Given the description of an element on the screen output the (x, y) to click on. 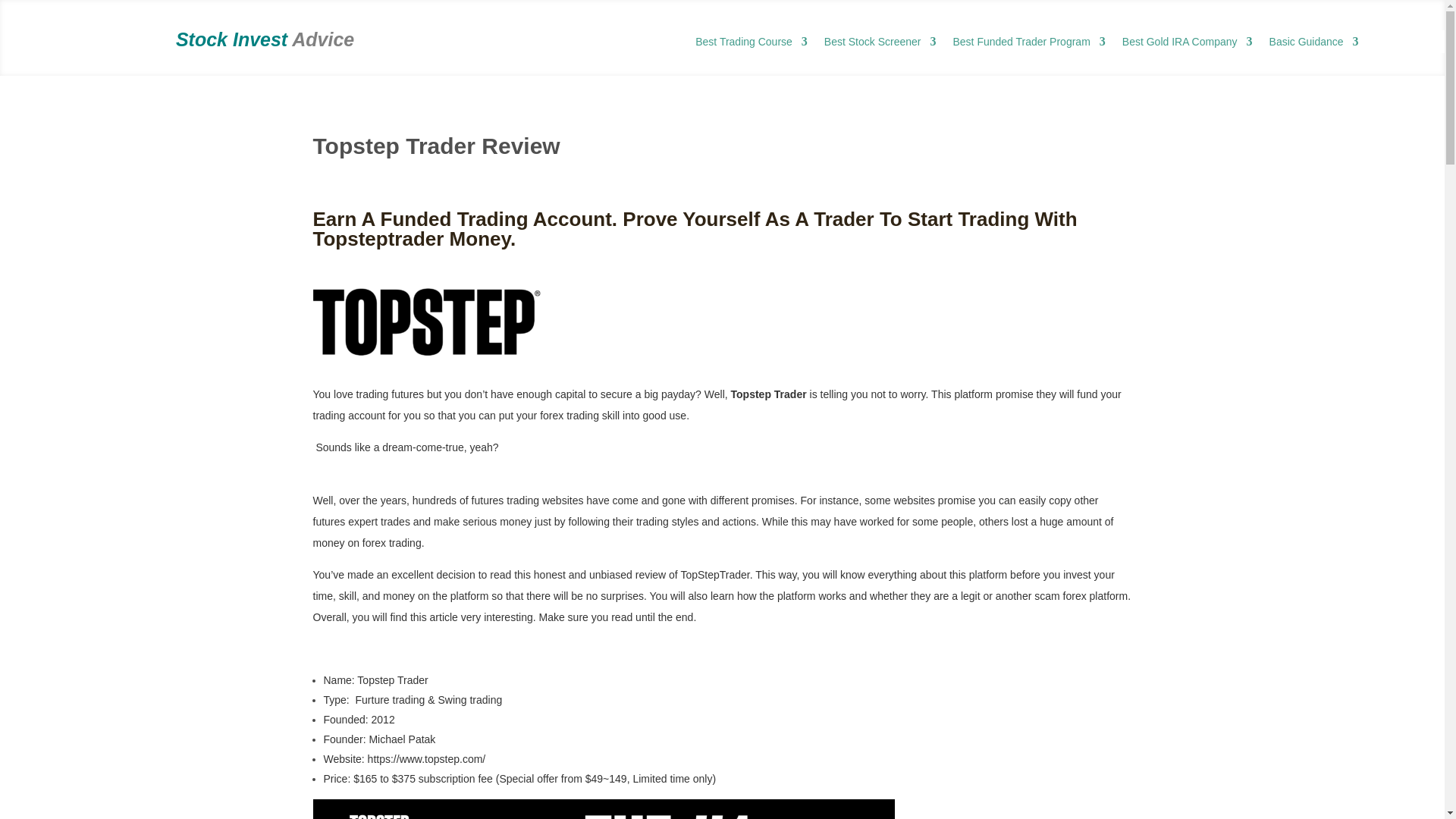
Best Gold IRA Company (1187, 44)
Basic Guidance (1313, 44)
Best Funded Trader Program (1028, 44)
Best Stock Screener (880, 44)
Best Trading Course (751, 44)
